Given the description of an element on the screen output the (x, y) to click on. 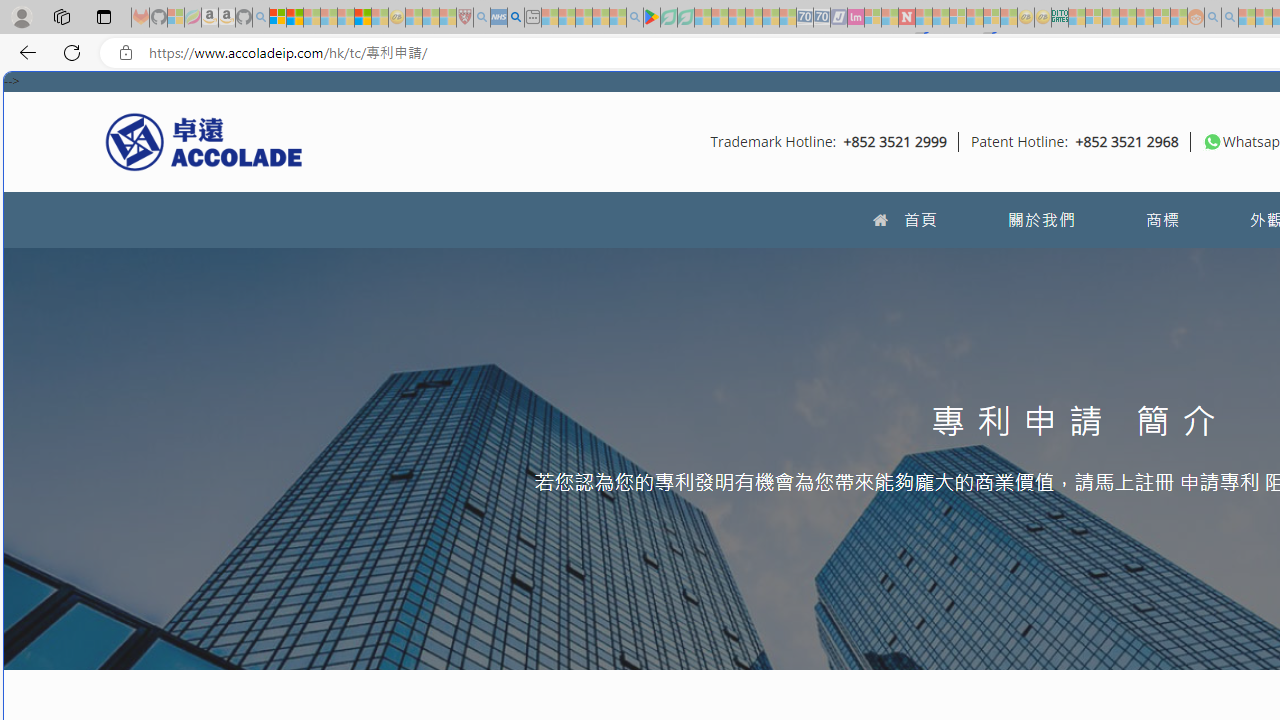
Bluey: Let's Play! - Apps on Google Play (651, 17)
